Given the description of an element on the screen output the (x, y) to click on. 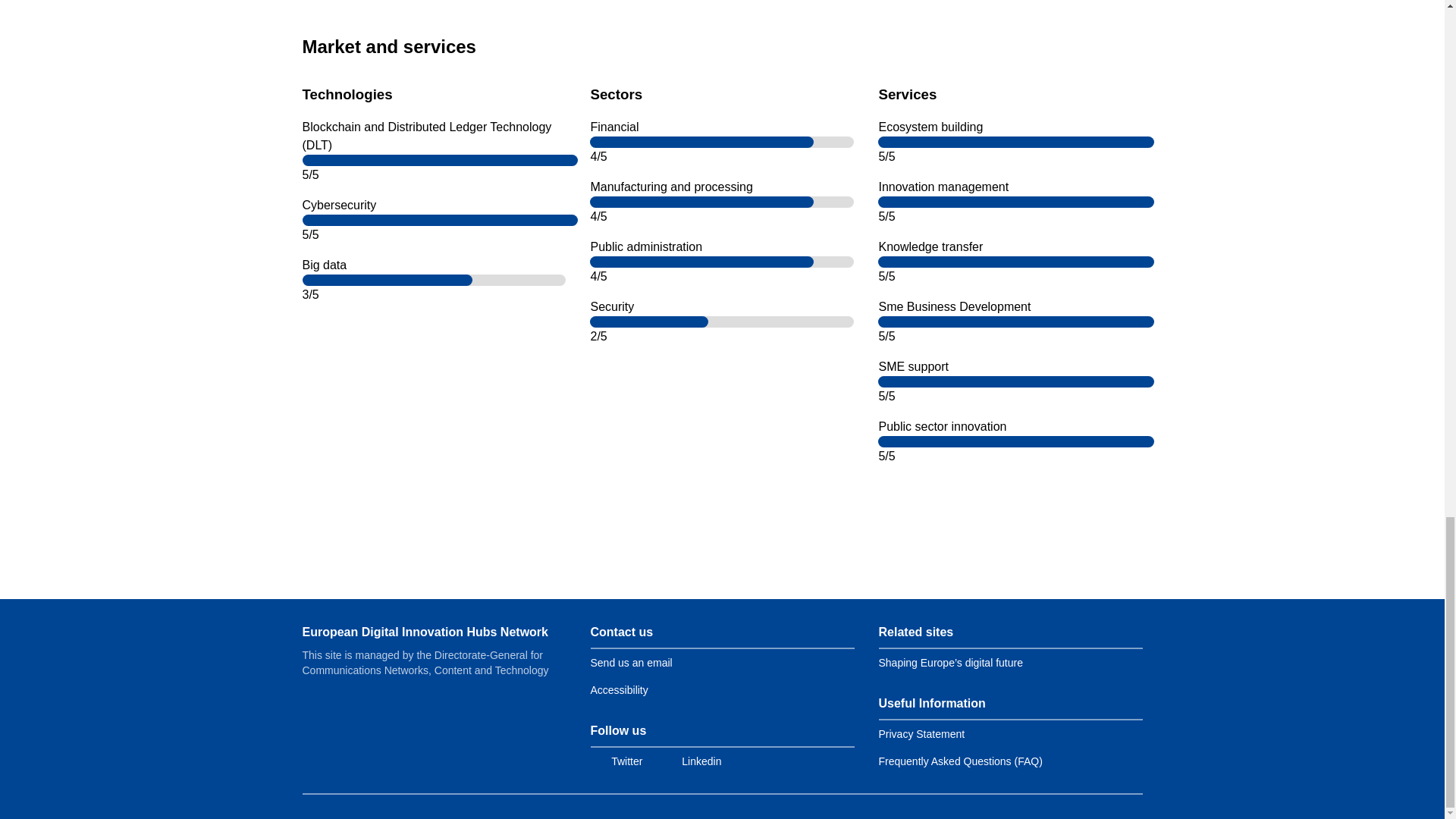
Twitter (615, 761)
Privacy Statement (920, 734)
Send us an email (630, 662)
Linkedin (690, 761)
Accessibility (618, 689)
